Given the description of an element on the screen output the (x, y) to click on. 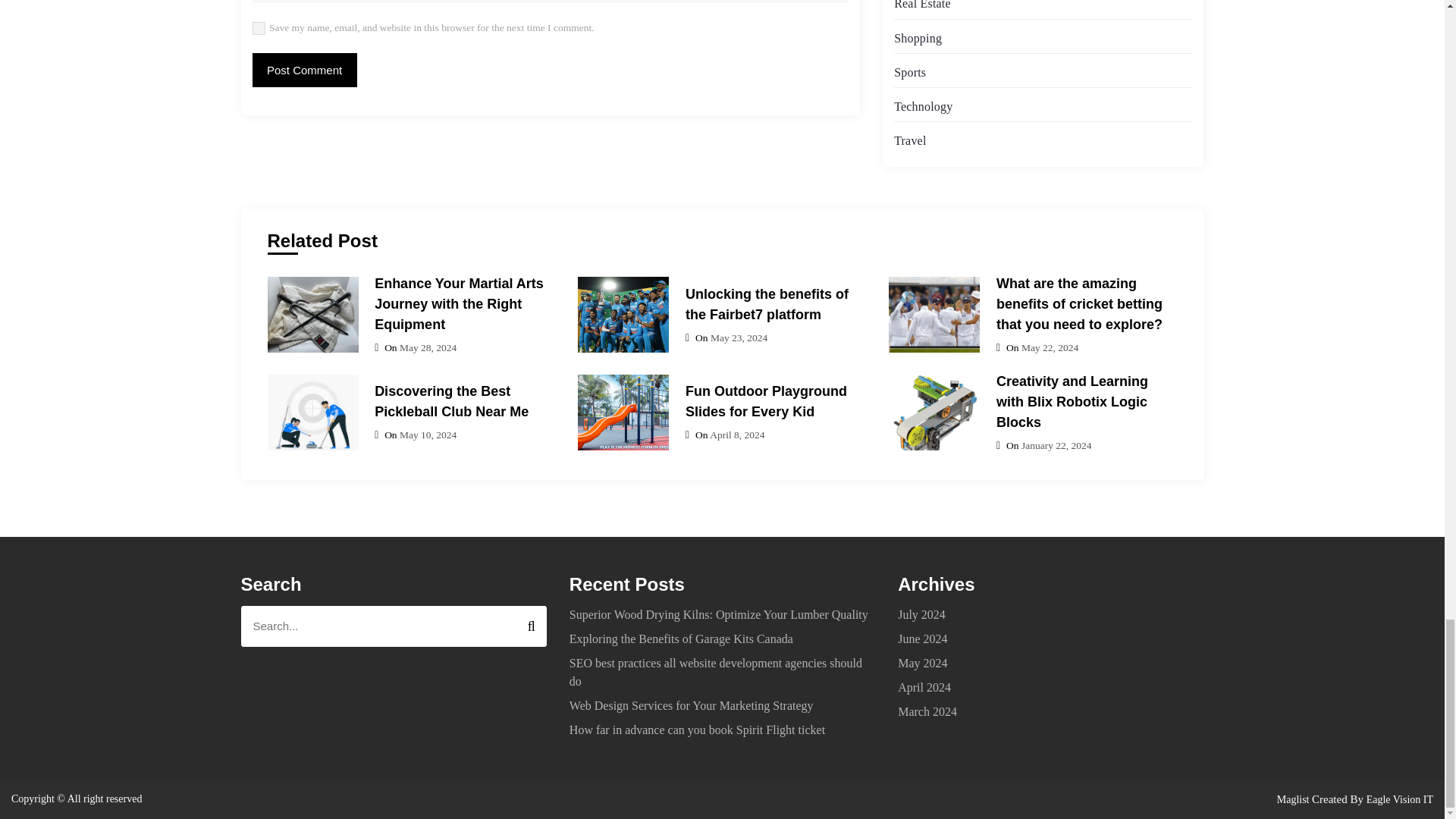
Post Comment (303, 69)
